Given the description of an element on the screen output the (x, y) to click on. 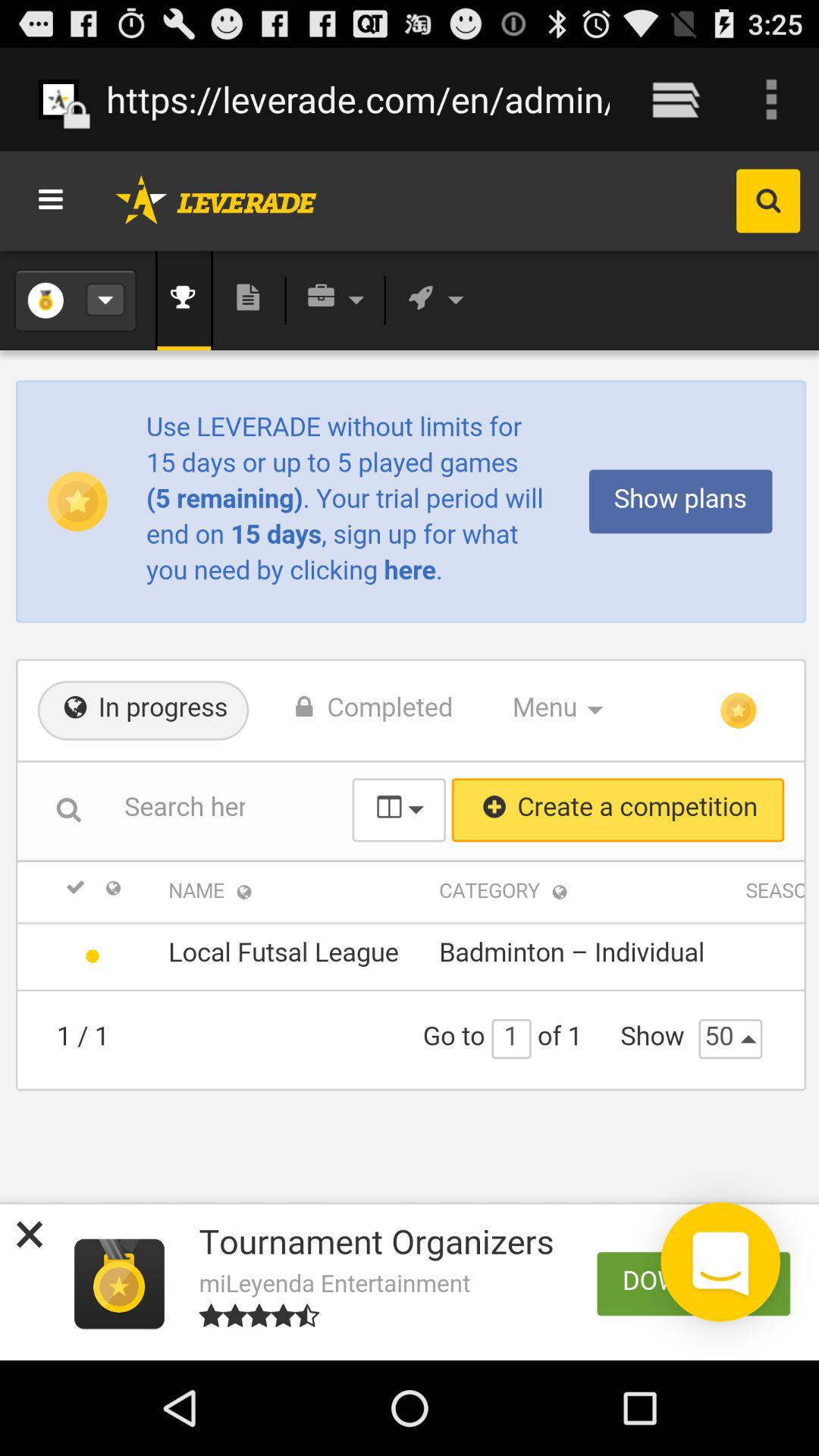
press the icon to the right of https leverade com icon (675, 99)
